Given the description of an element on the screen output the (x, y) to click on. 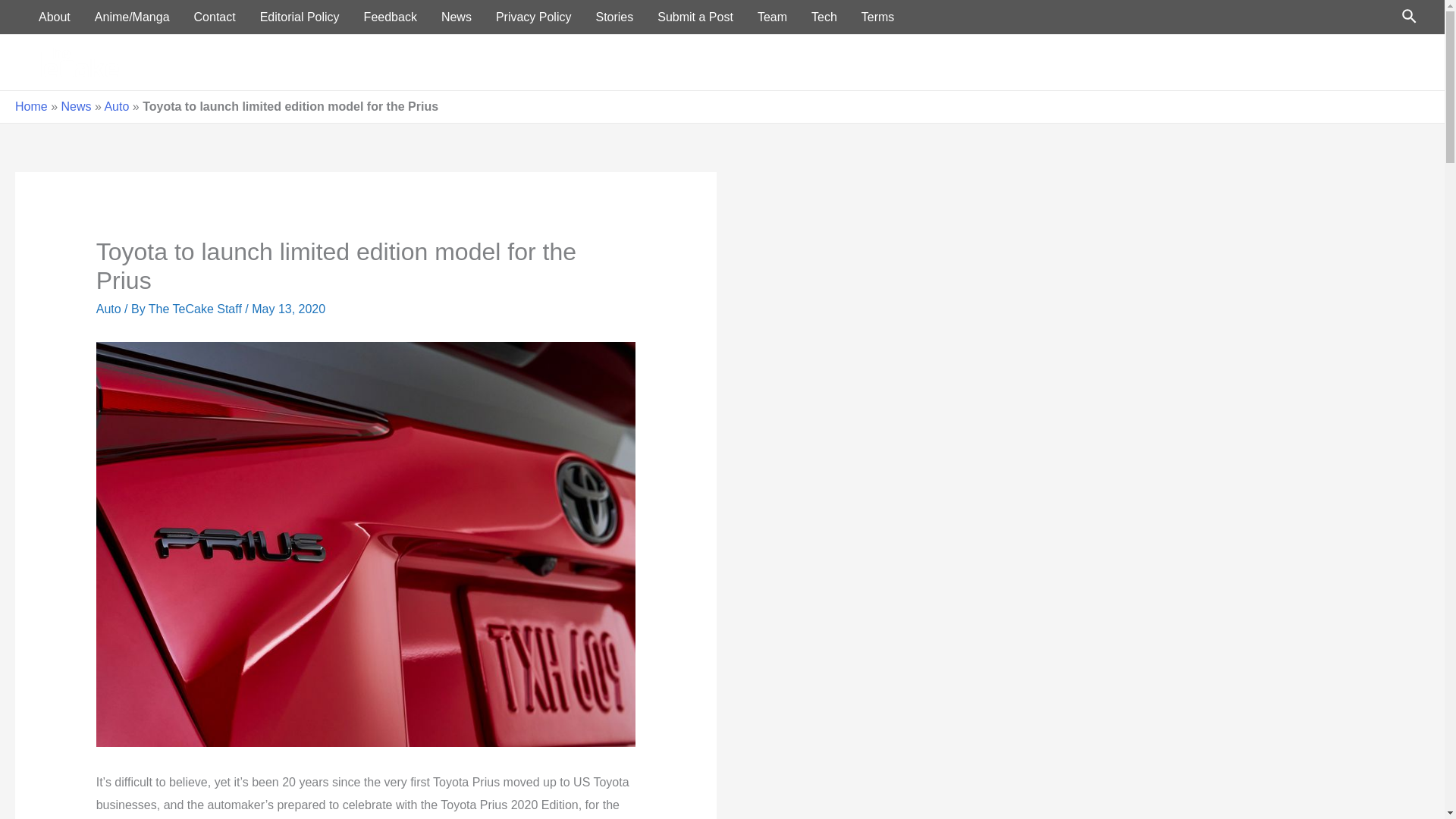
Home (1060, 62)
Team (772, 17)
Games (1324, 62)
Privacy Policy (533, 17)
Submit a Post (695, 17)
View all posts by The TeCake Staff (197, 308)
Auto (108, 308)
Stories (1386, 62)
Stories (614, 17)
Editorial Policy (299, 17)
Contact (214, 17)
Auto (116, 106)
News (75, 106)
Home (31, 106)
Tech (823, 17)
